Given the description of an element on the screen output the (x, y) to click on. 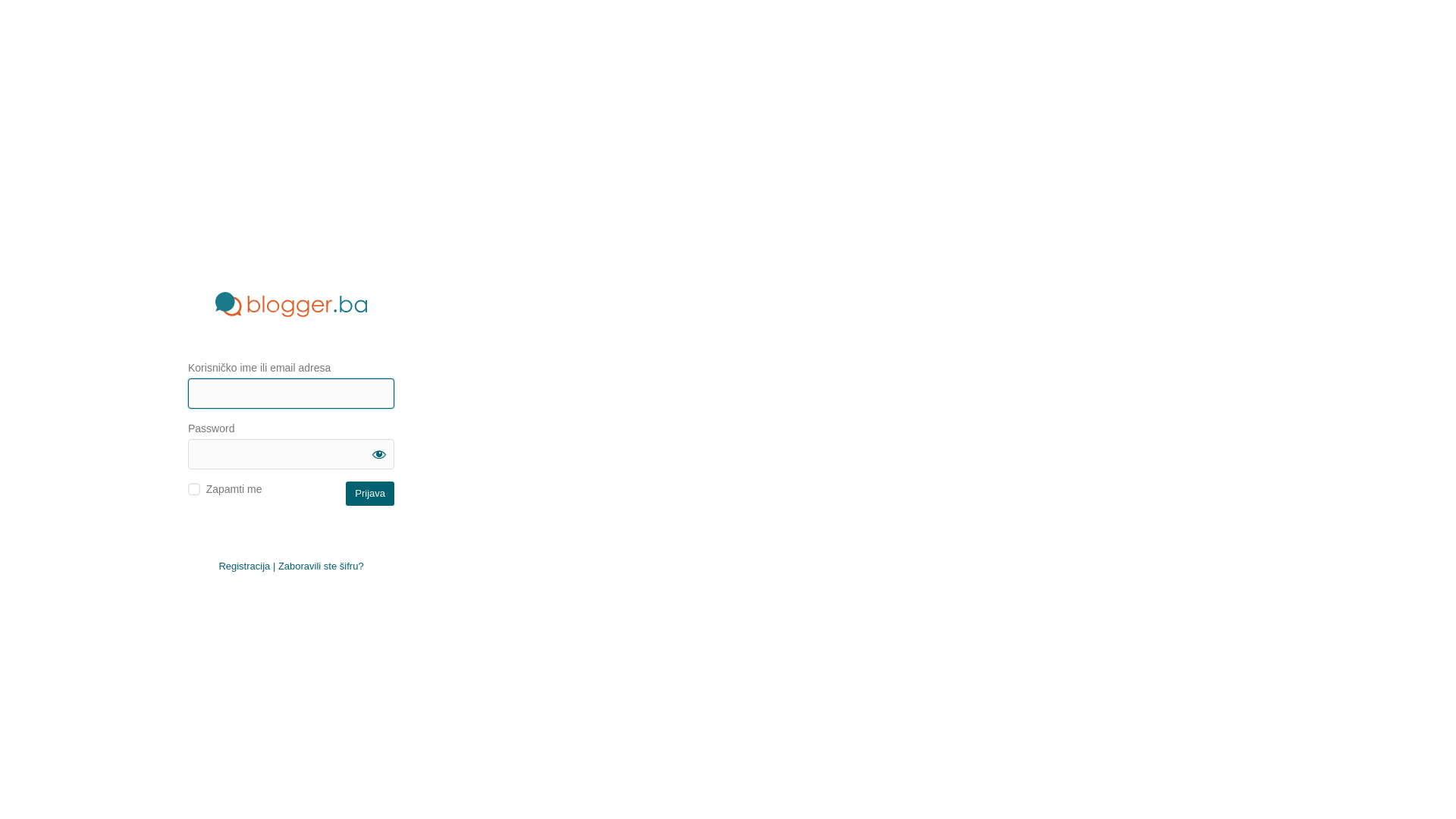
Prijava Element type: text (369, 493)
Registracija Element type: text (243, 565)
